Given the description of an element on the screen output the (x, y) to click on. 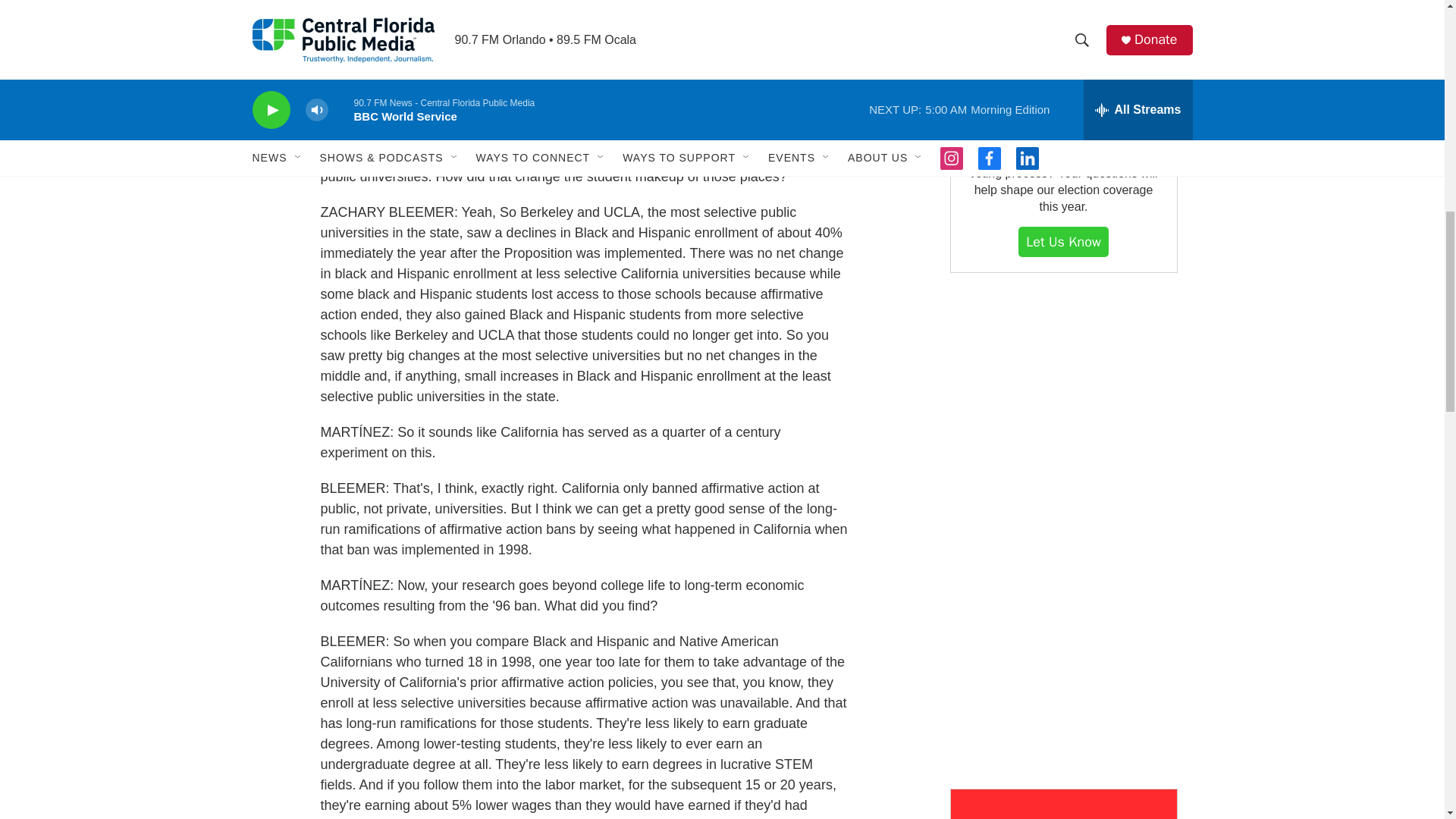
3rd party ad content (1062, 530)
